Given the description of an element on the screen output the (x, y) to click on. 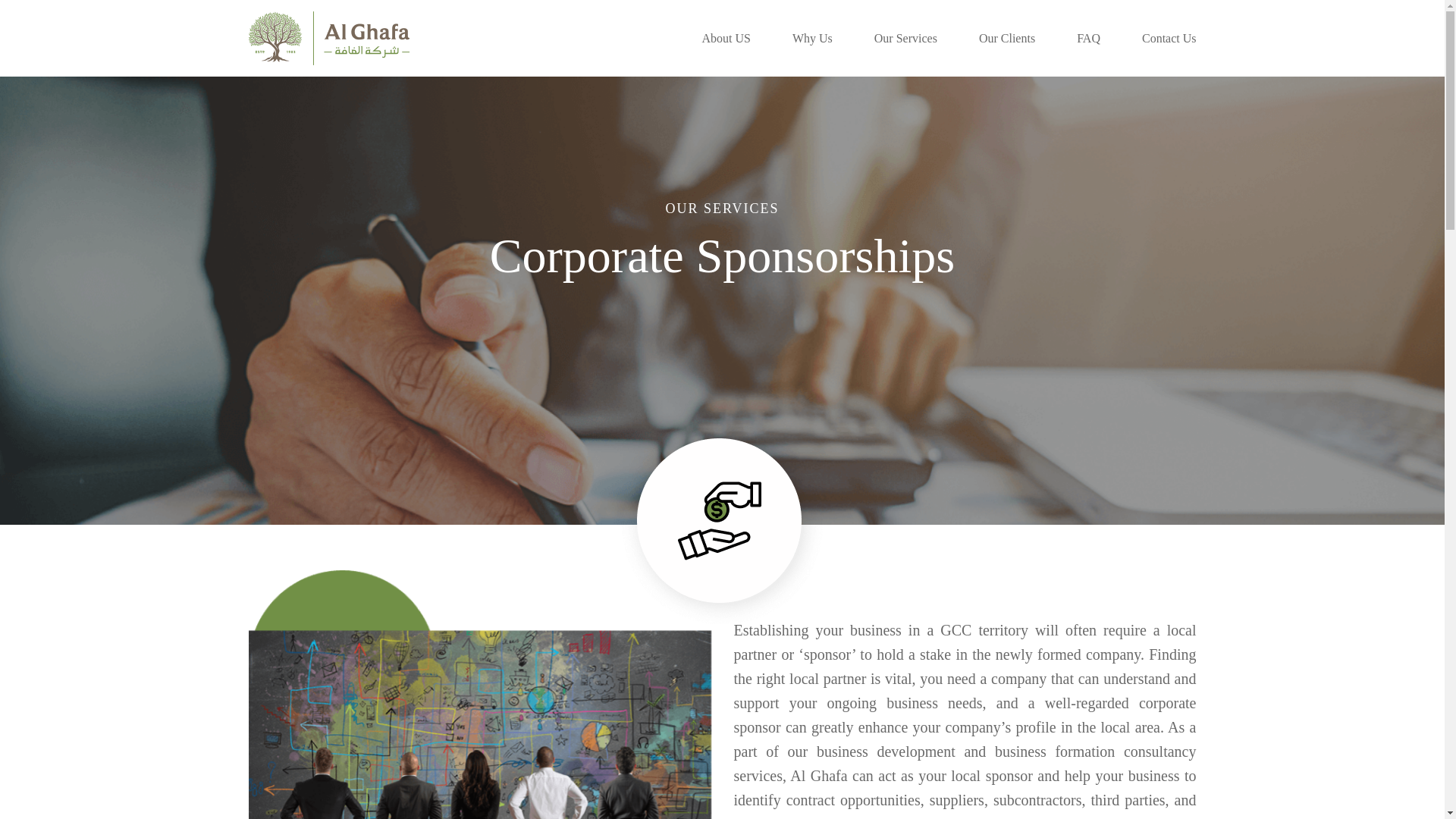
Why Us (812, 38)
Our Services (906, 38)
Contact Us (1168, 38)
About US (725, 38)
Our Clients (1006, 38)
FAQ (1088, 38)
